Given the description of an element on the screen output the (x, y) to click on. 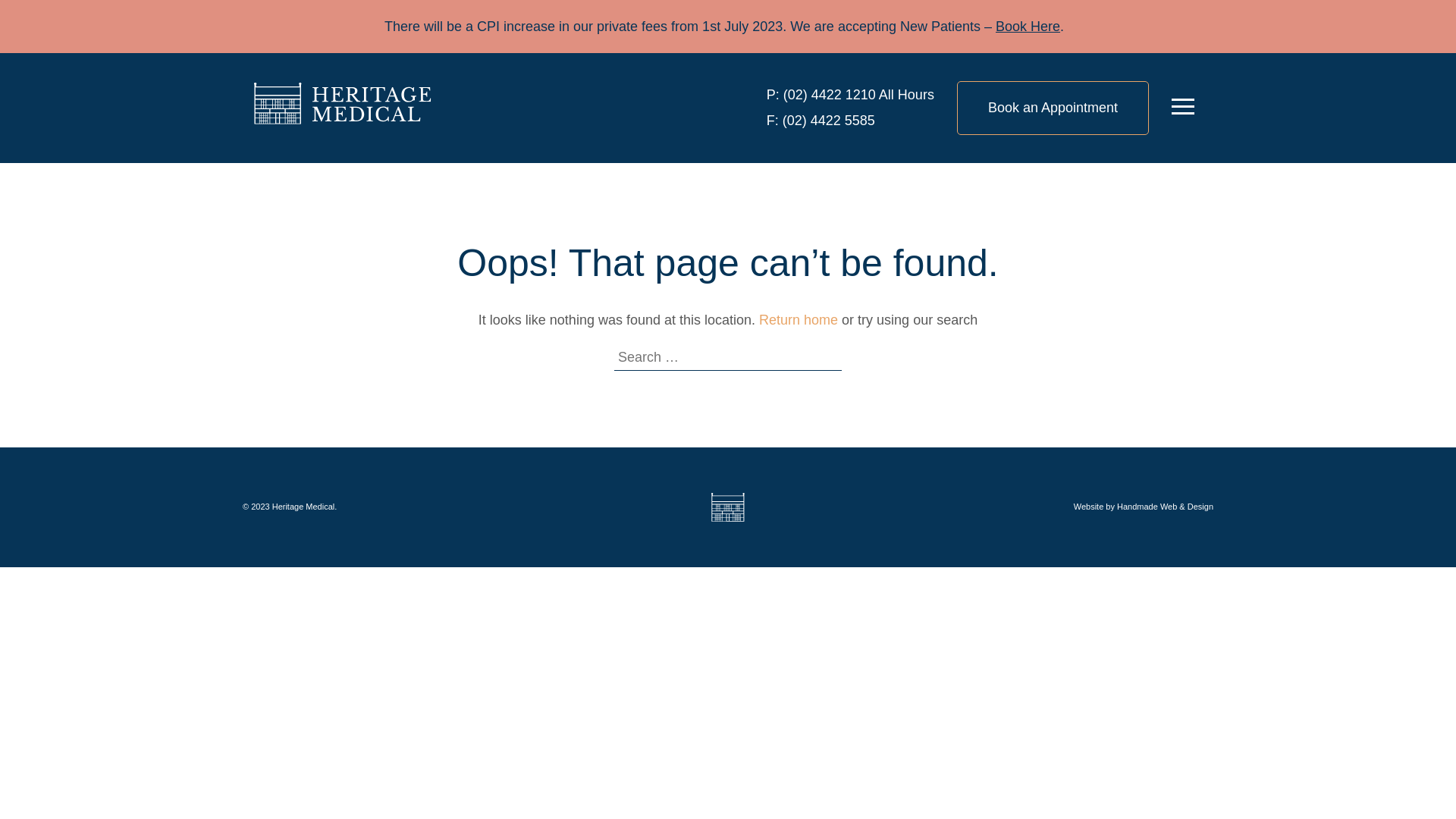
(02) 4422 1210 All Hours Element type: text (856, 94)
Book Here Element type: text (1027, 26)
Menu Element type: text (1182, 107)
Book an Appointment Element type: text (1052, 107)
Return home Element type: text (798, 319)
(02) 4422 5585 Element type: text (826, 120)
Handmade Web & Design Element type: text (1165, 506)
